Given the description of an element on the screen output the (x, y) to click on. 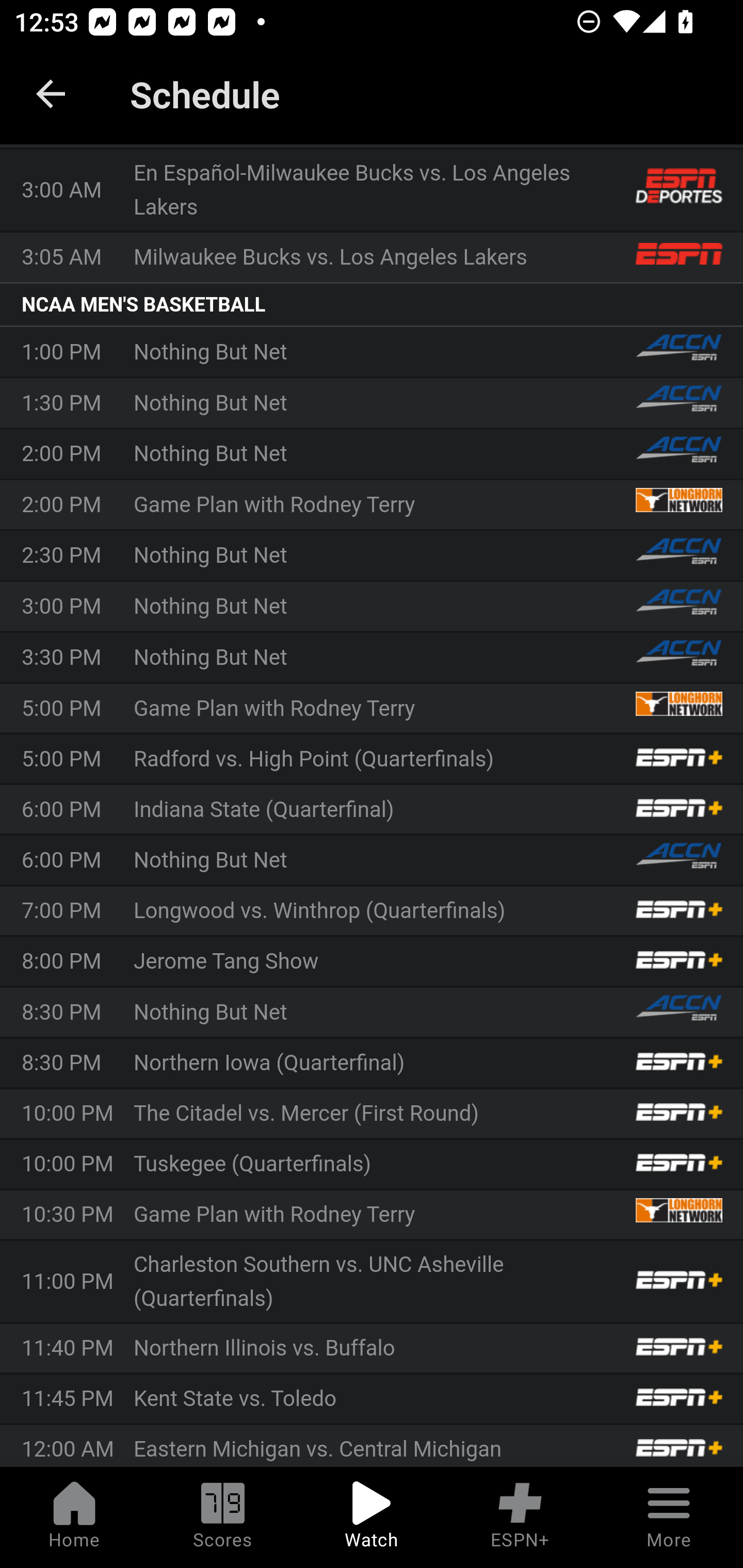
back.button (50, 93)
Home (74, 1517)
Scores (222, 1517)
ESPN+ (519, 1517)
More (668, 1517)
